Given the description of an element on the screen output the (x, y) to click on. 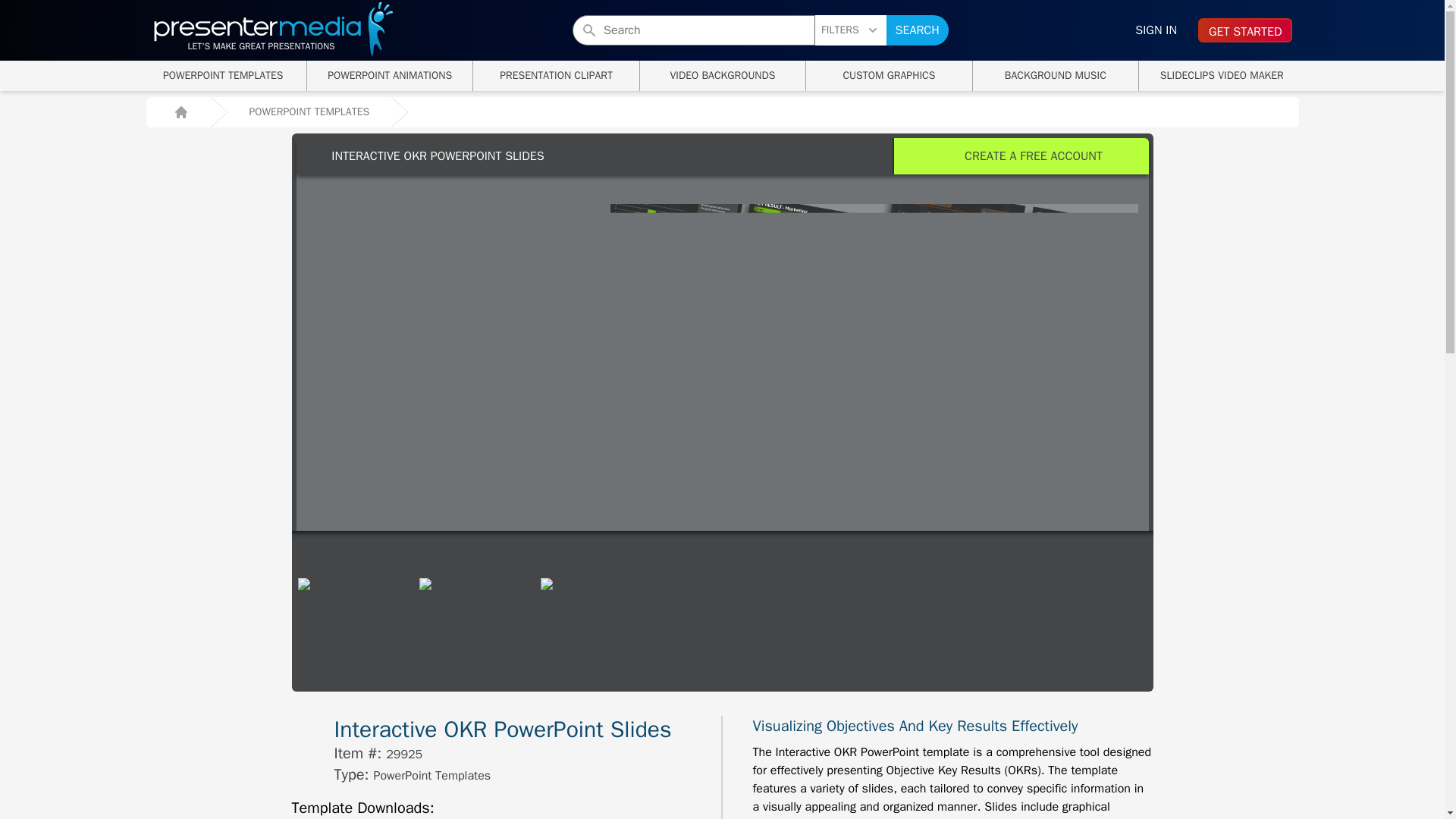
SIGN IN (389, 75)
SEARCH (1155, 30)
FILTERS (917, 30)
Create Free Account (850, 30)
LET'S MAKE GREAT PRESENTATIONS (222, 75)
Sign in to add to favorites (1020, 156)
GET STARTED (272, 36)
